Given the description of an element on the screen output the (x, y) to click on. 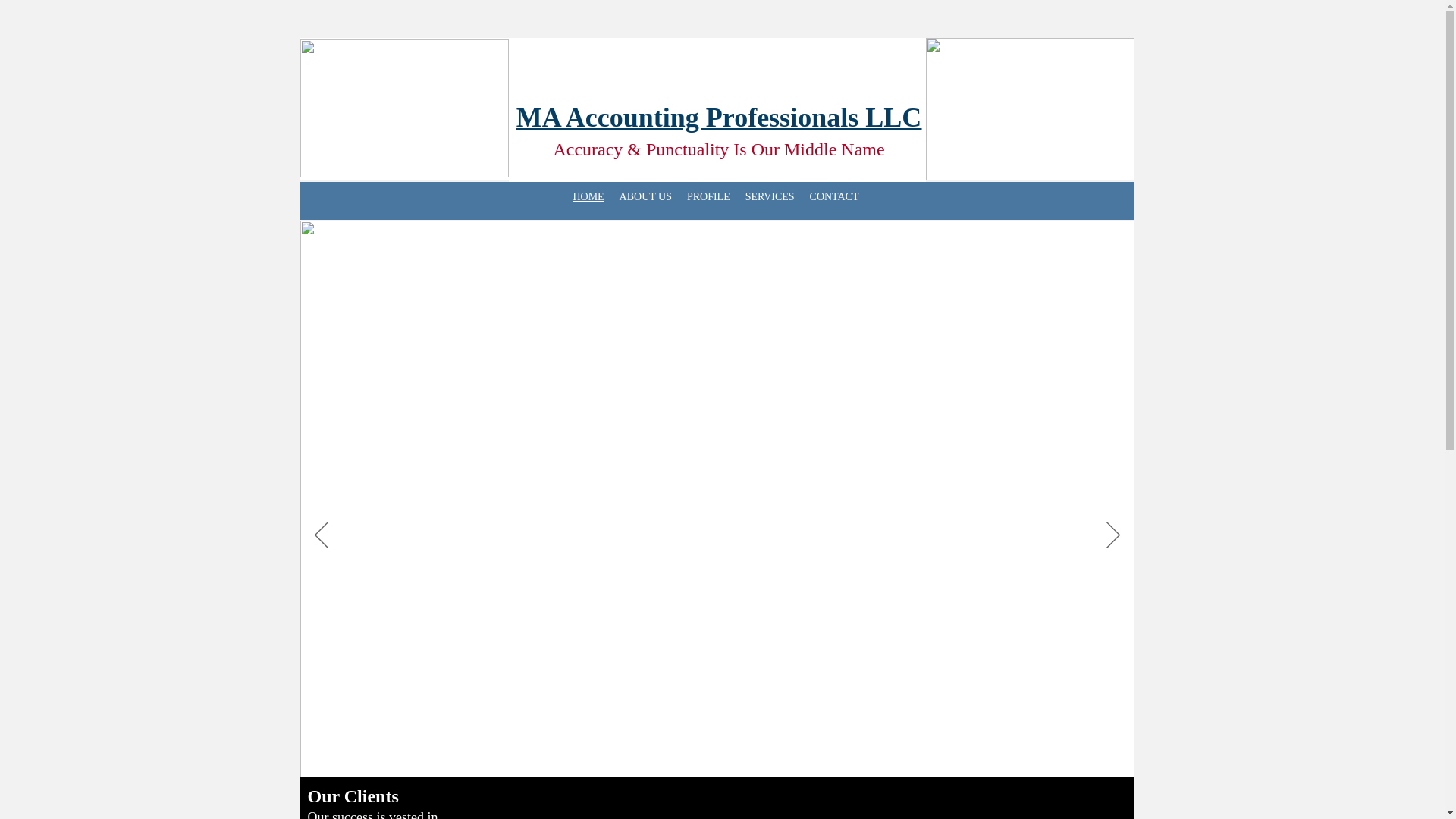
SERVICES (770, 196)
HOME (588, 196)
PROFILE (708, 196)
ABOUT US (645, 196)
CONTACT (834, 196)
